Given the description of an element on the screen output the (x, y) to click on. 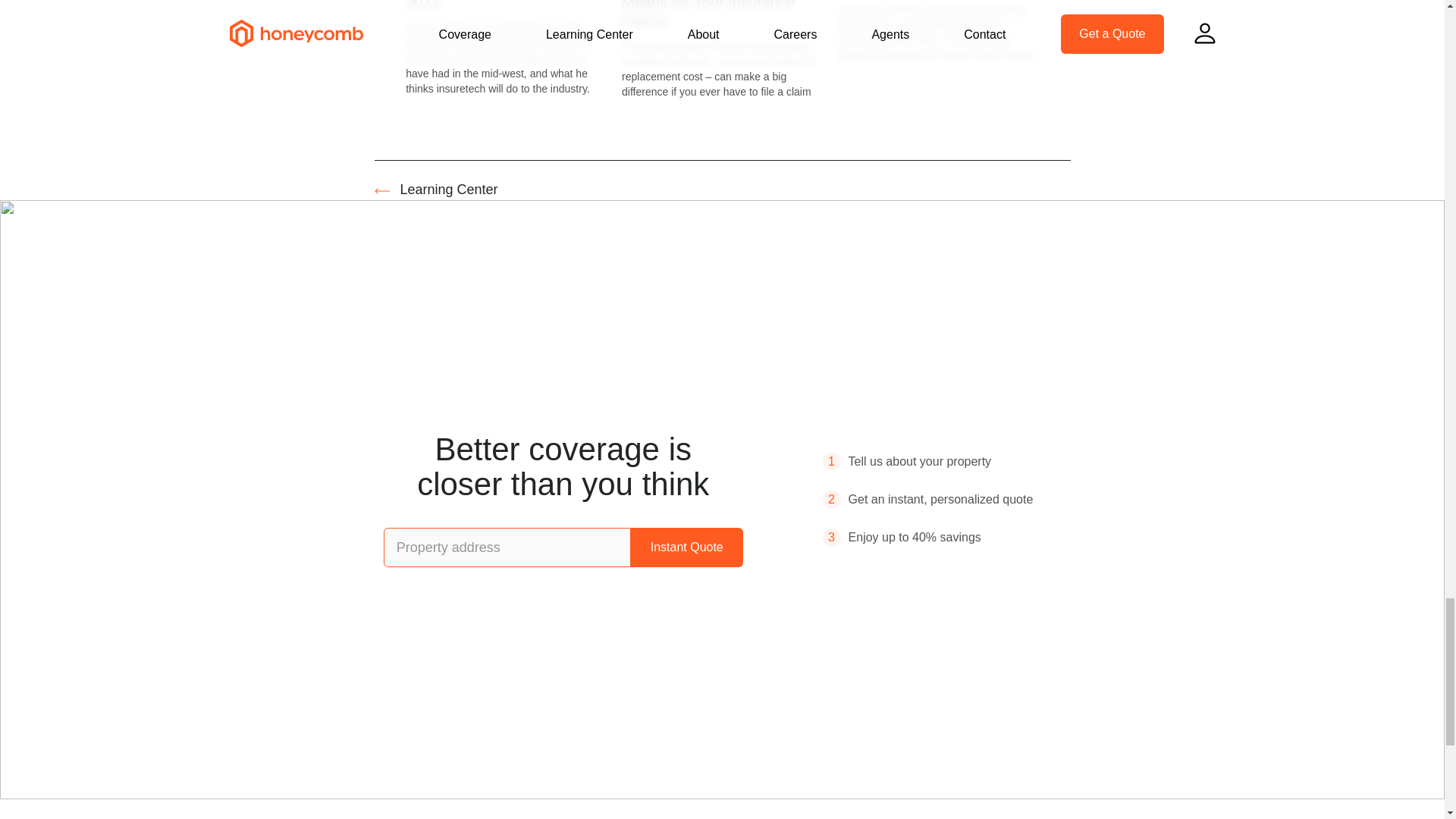
Learning Center (448, 189)
Instant Quote (686, 547)
